Given the description of an element on the screen output the (x, y) to click on. 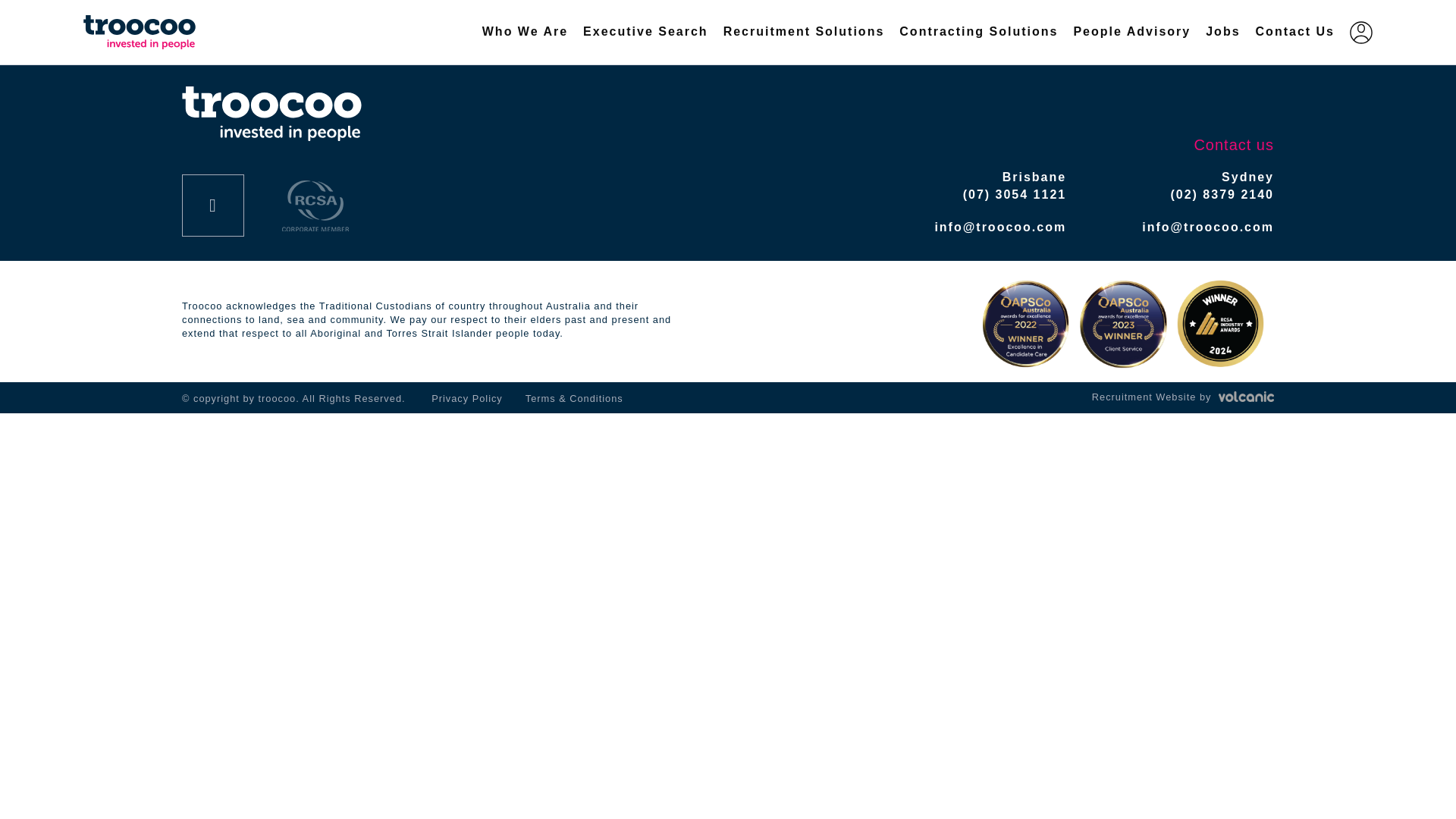
People Advisory (1131, 32)
Troocoo Homepage (158, 32)
Jobs (1222, 32)
Troocoo Homepage (271, 113)
Recruitment Solutions (804, 32)
Contact Us (1294, 32)
Login (1361, 31)
Contracting Solutions (978, 32)
Who We Are (524, 32)
Executive Search (645, 32)
